Given the description of an element on the screen output the (x, y) to click on. 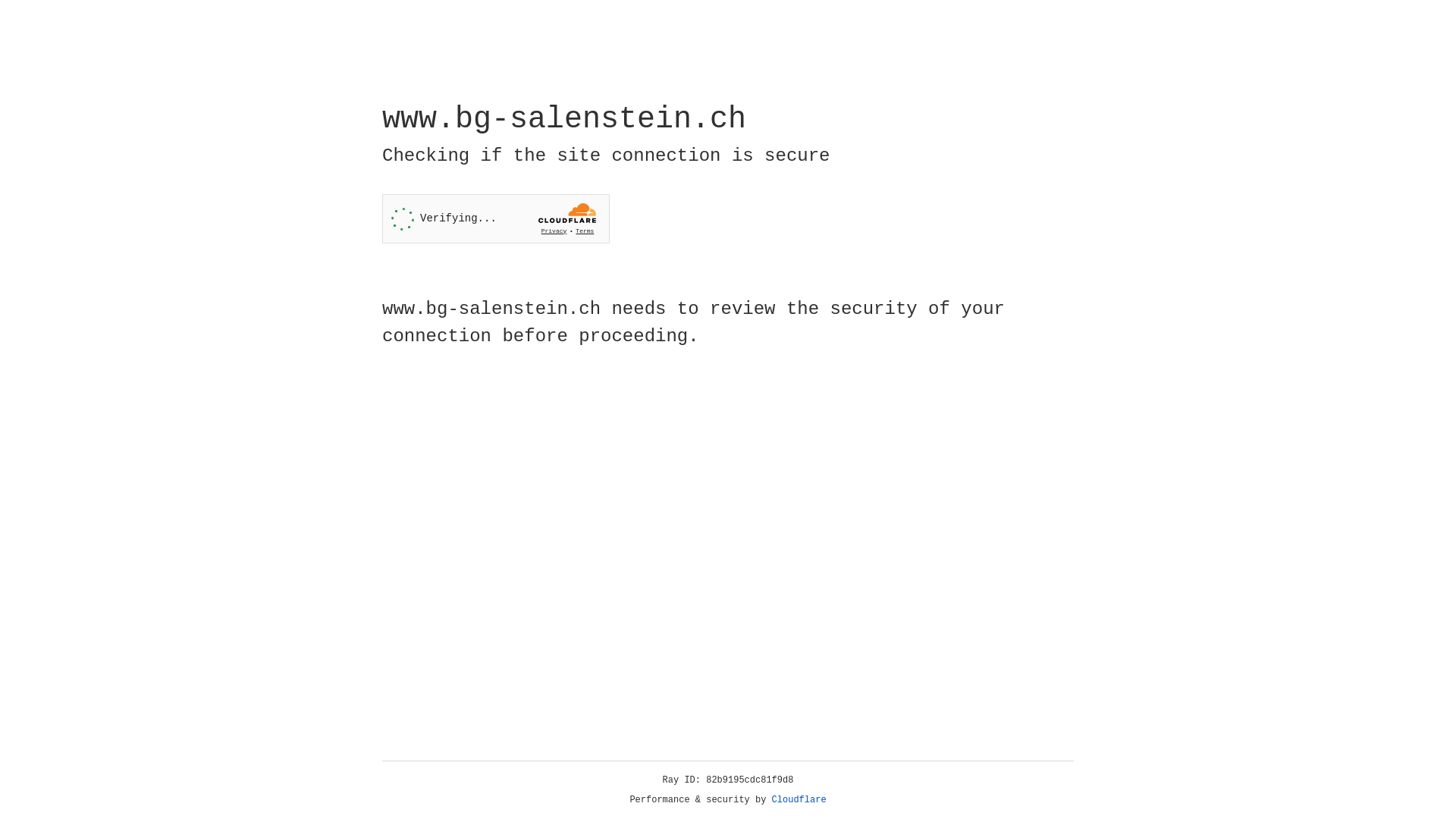
Widget containing a Cloudflare security challenge Element type: hover (495, 218)
Cloudflare Element type: text (798, 799)
